Given the description of an element on the screen output the (x, y) to click on. 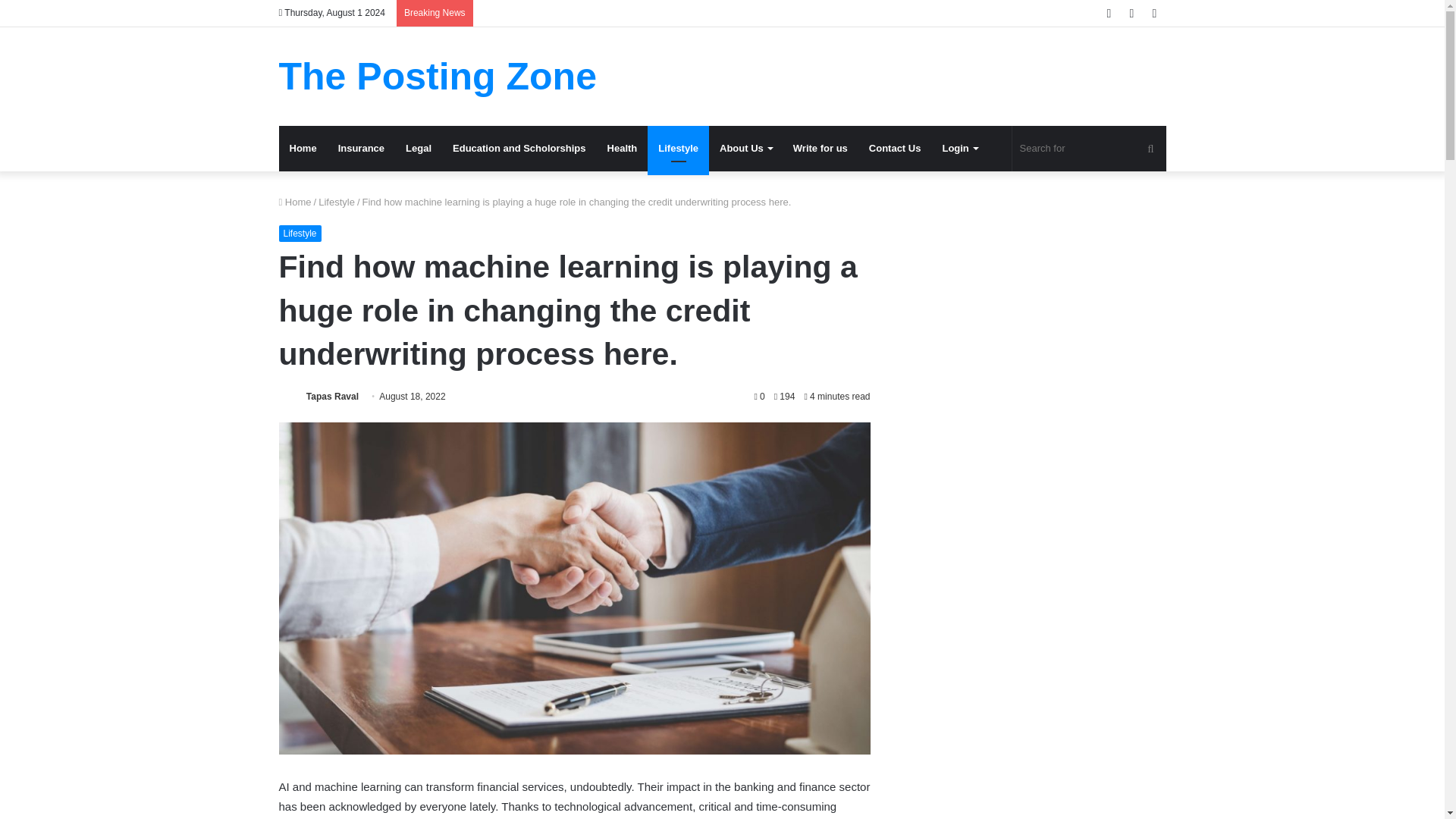
About Us (746, 148)
Login (959, 148)
Lifestyle (300, 233)
Write for us (821, 148)
Lifestyle (336, 202)
Health (621, 148)
Home (303, 148)
Search for (1088, 148)
The Posting Zone (437, 76)
Tapas Raval (331, 396)
Education and Scholorships (519, 148)
Contact Us (895, 148)
Lifestyle (678, 148)
Legal (418, 148)
The Posting Zone (437, 76)
